Given the description of an element on the screen output the (x, y) to click on. 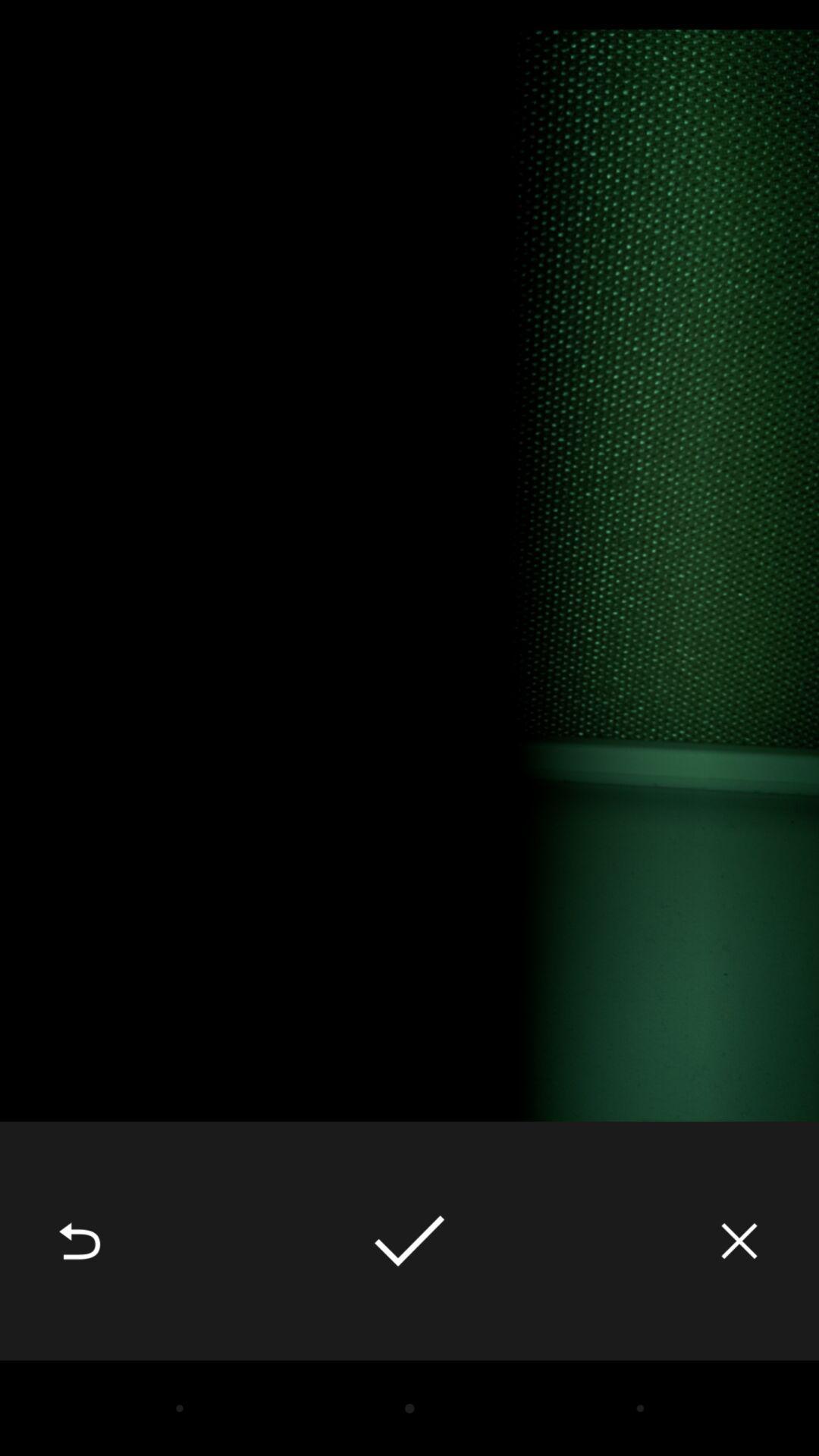
open icon at the bottom right corner (739, 1240)
